Given the description of an element on the screen output the (x, y) to click on. 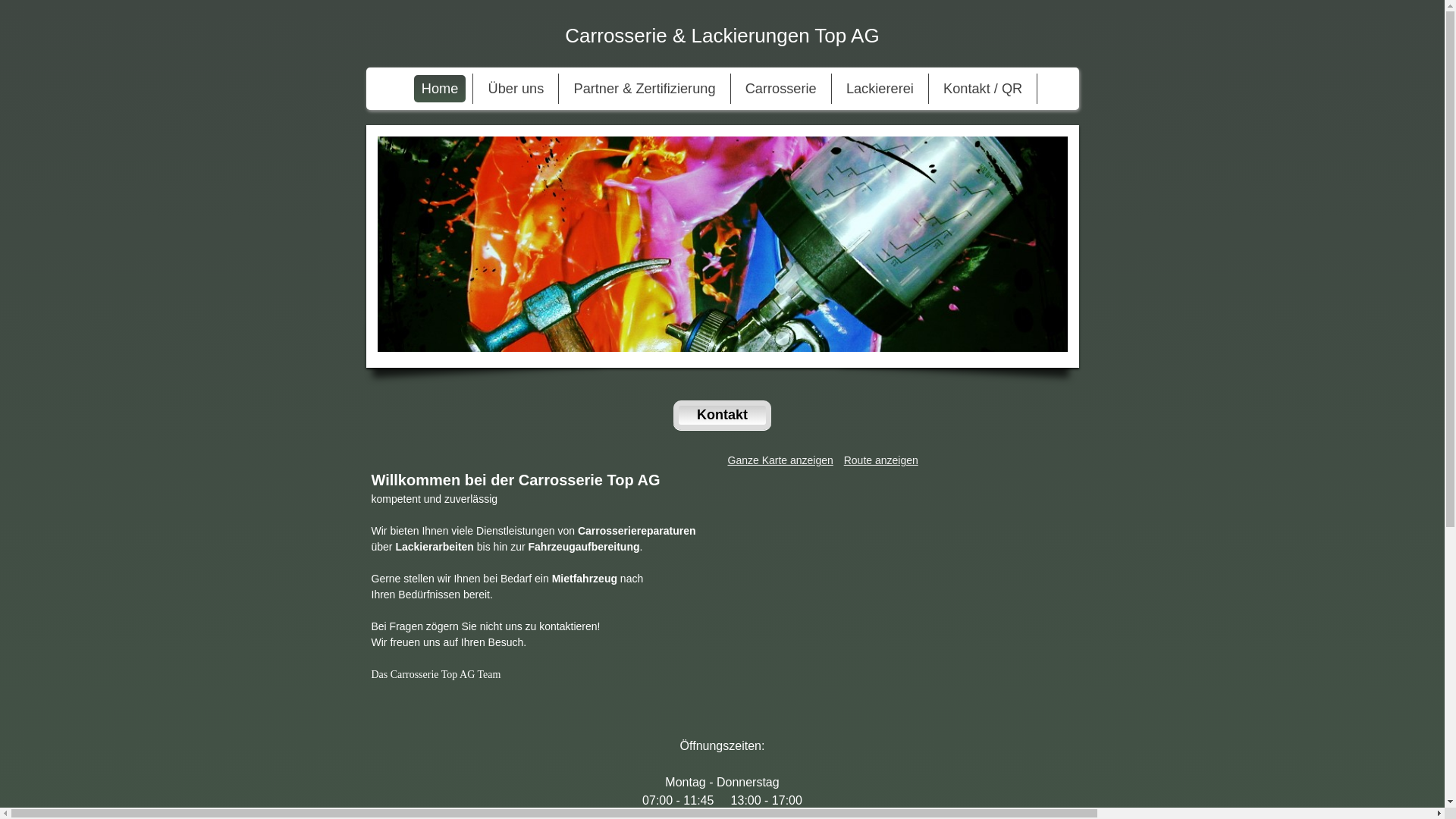
Carrosserie & Lackierungen Top AG Element type: text (721, 33)
Kontakt / QR Element type: text (982, 88)
Partner & Zertifizierung Element type: text (644, 88)
Kontakt Element type: text (722, 414)
Ganze Karte anzeigen Element type: text (780, 460)
Lackiererei Element type: text (879, 88)
Carrosserie Element type: text (780, 88)
Home Element type: text (440, 88)
Route anzeigen Element type: text (881, 460)
